Given the description of an element on the screen output the (x, y) to click on. 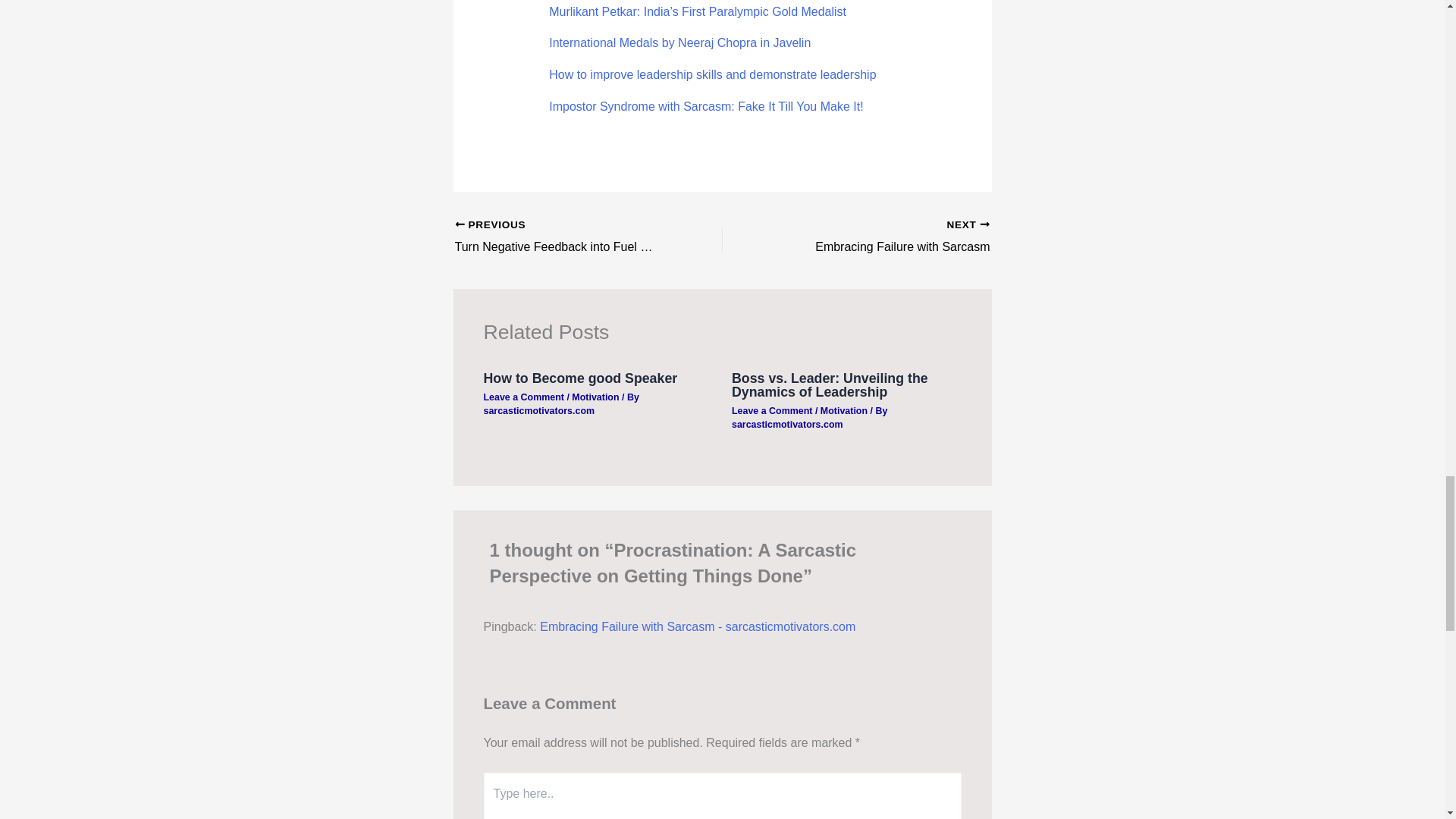
How to Become good Speaker (580, 378)
Leave a Comment (523, 397)
International Medals by Neeraj Chopra in Javelin (679, 42)
View all posts by sarcasticmotivators.com (882, 237)
Embracing Failure with Sarcasm (539, 410)
Impostor Syndrome with Sarcasm: Fake It Till You Make It! (882, 237)
Motivation (705, 106)
Turn Negative Feedback into Fuel for Success (561, 237)
